Given the description of an element on the screen output the (x, y) to click on. 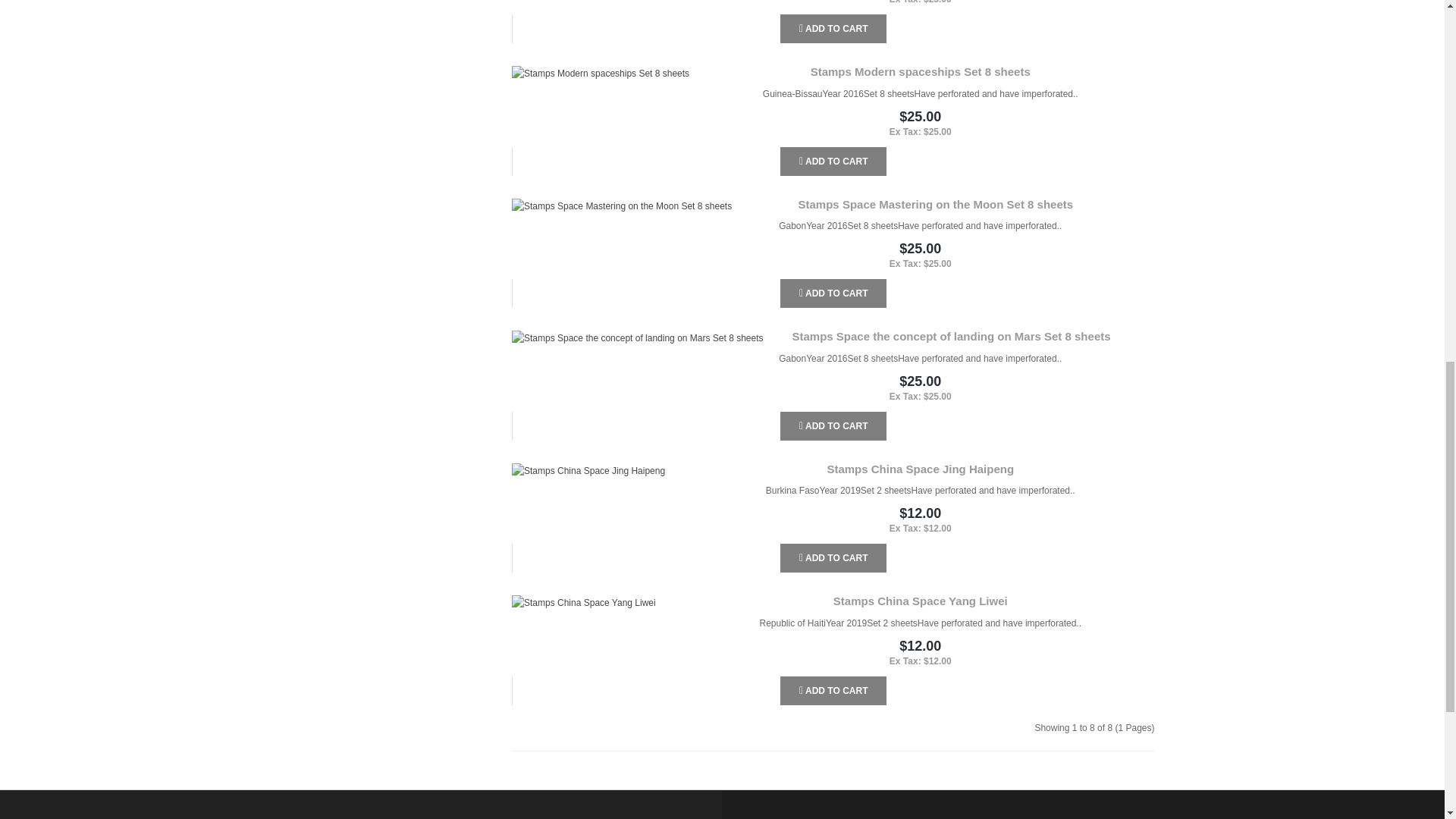
Stamps Space Mastering on the Moon Set 8 sheets (622, 206)
Stamps Modern spaceships  Set 8 sheets (600, 73)
